Given the description of an element on the screen output the (x, y) to click on. 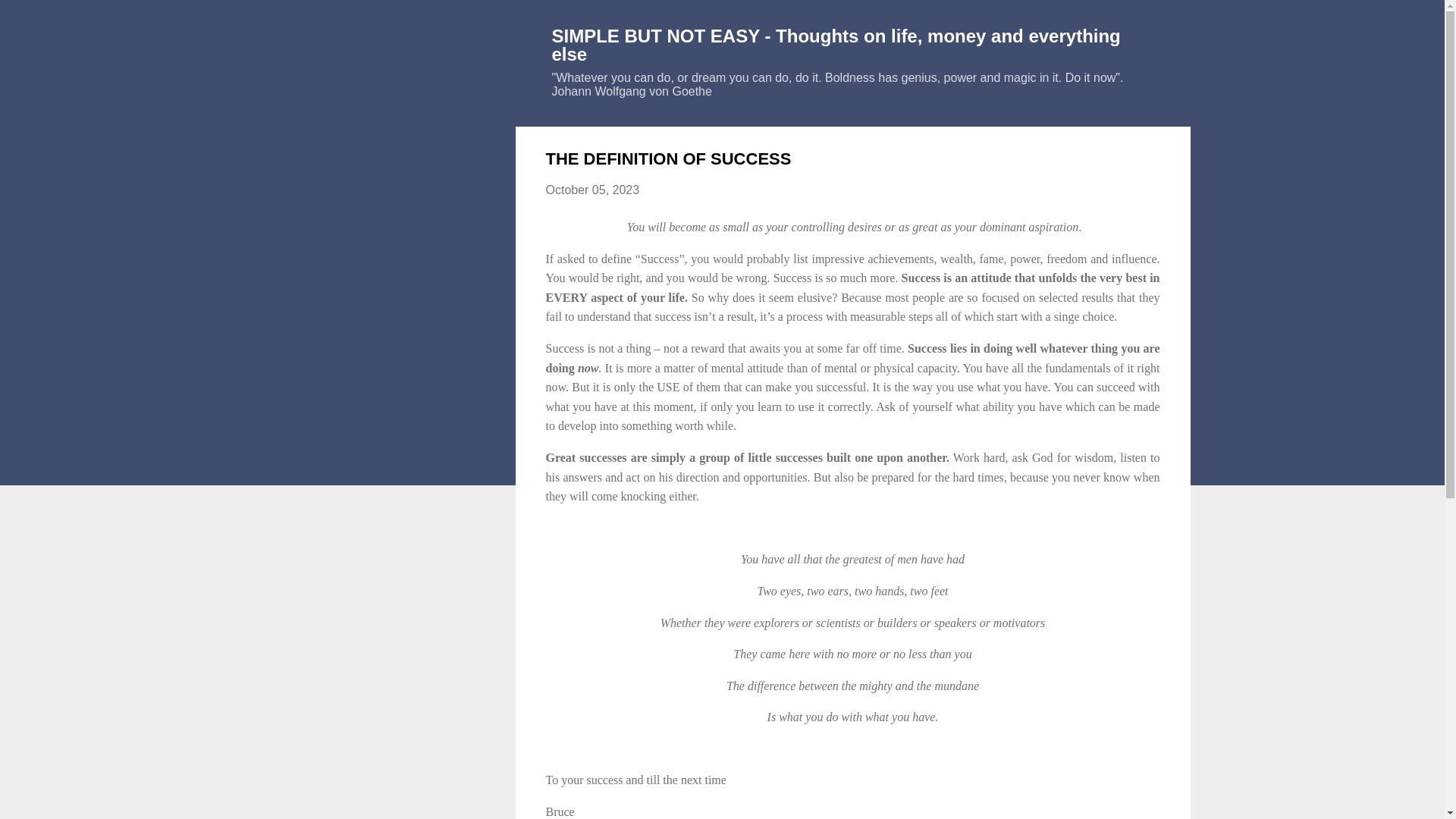
October 05, 2023 (593, 189)
Search (32, 18)
permanent link (593, 189)
